Given the description of an element on the screen output the (x, y) to click on. 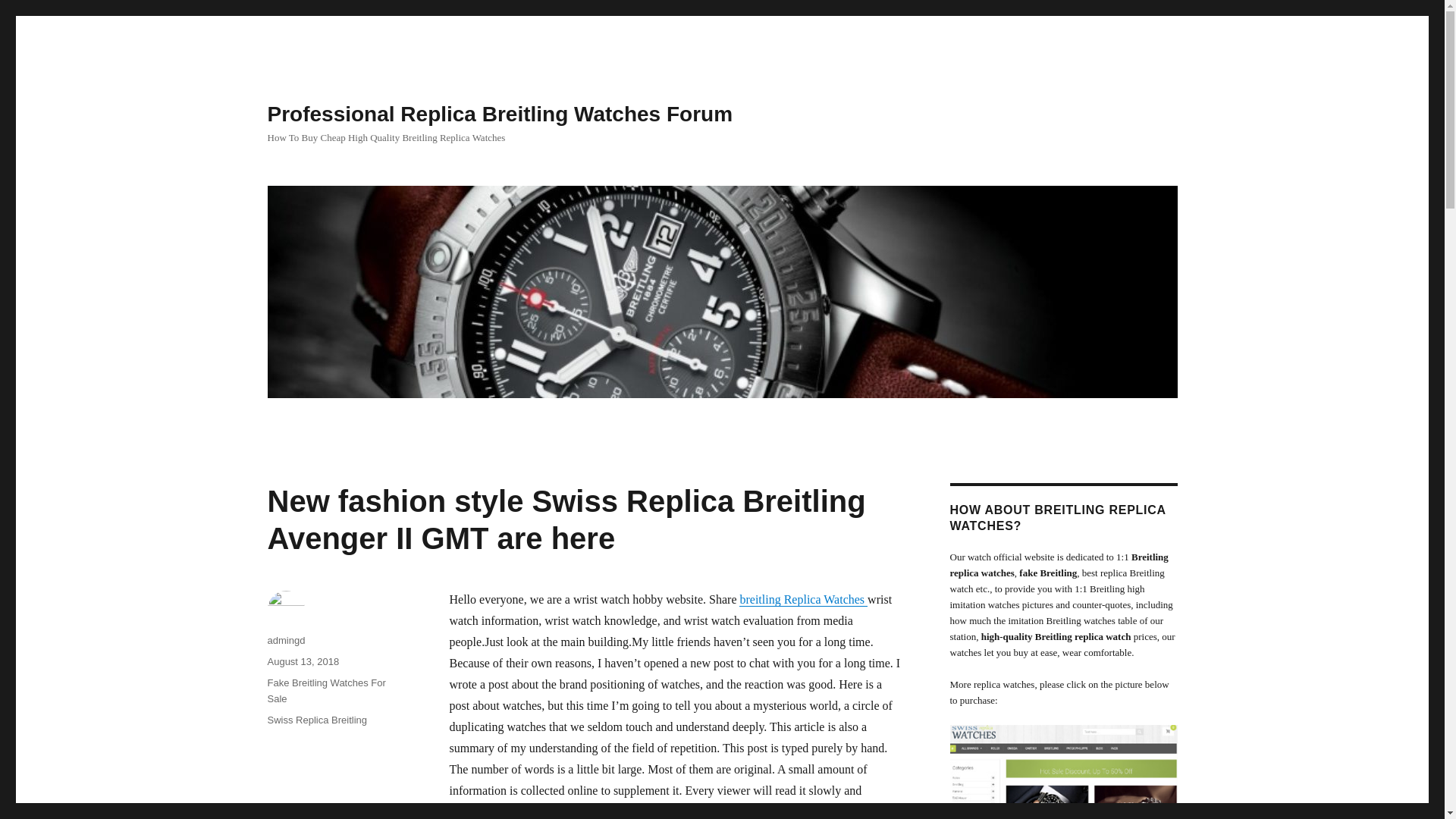
Swiss Replica Breitling (316, 719)
breitling Replica Watches  (803, 599)
August 13, 2018 (302, 661)
admingd (285, 640)
Professional Replica Breitling Watches Forum (499, 114)
Fake Breitling Watches For Sale (325, 690)
